Given the description of an element on the screen output the (x, y) to click on. 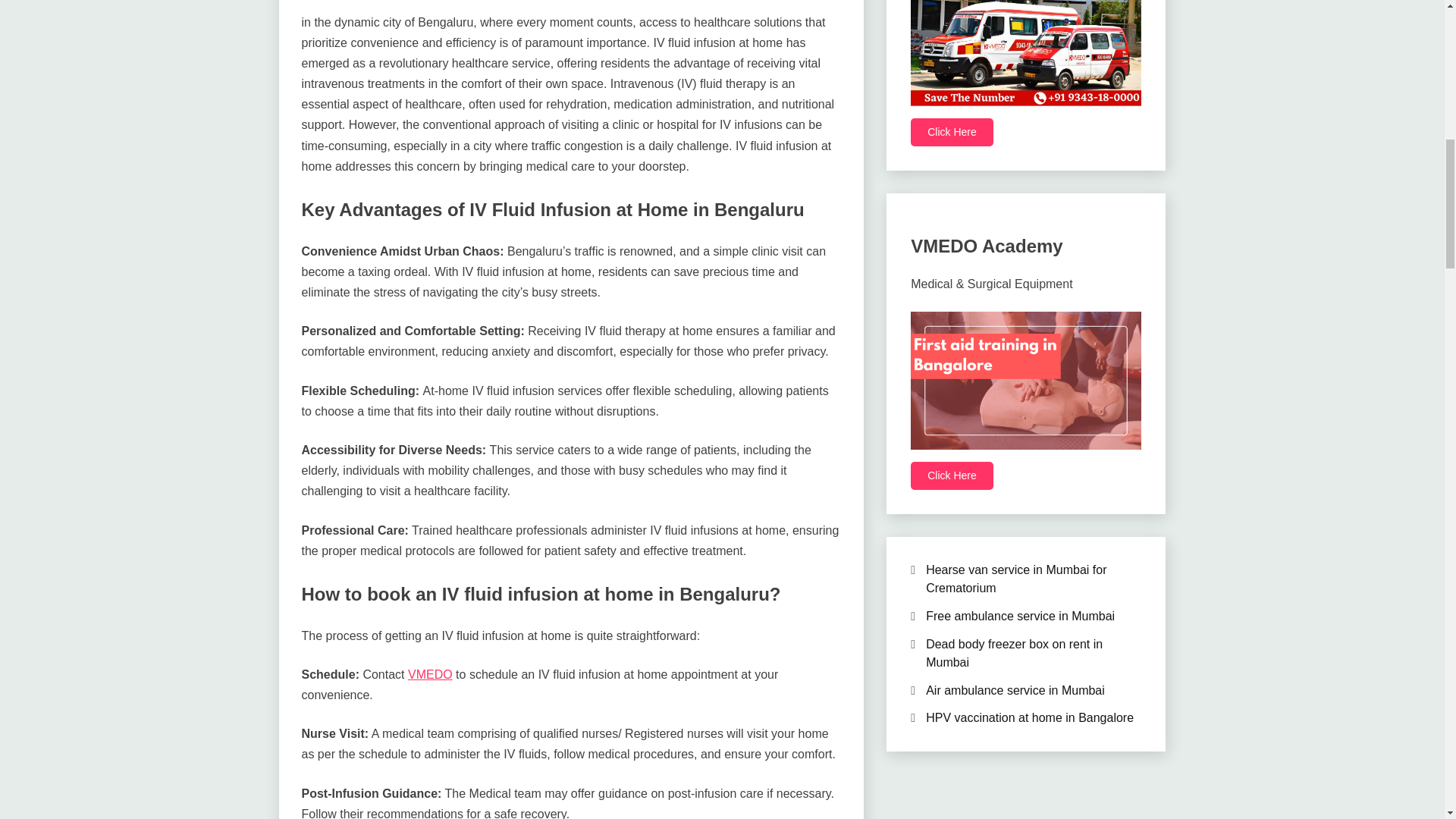
VMEDO (429, 674)
